Given the description of an element on the screen output the (x, y) to click on. 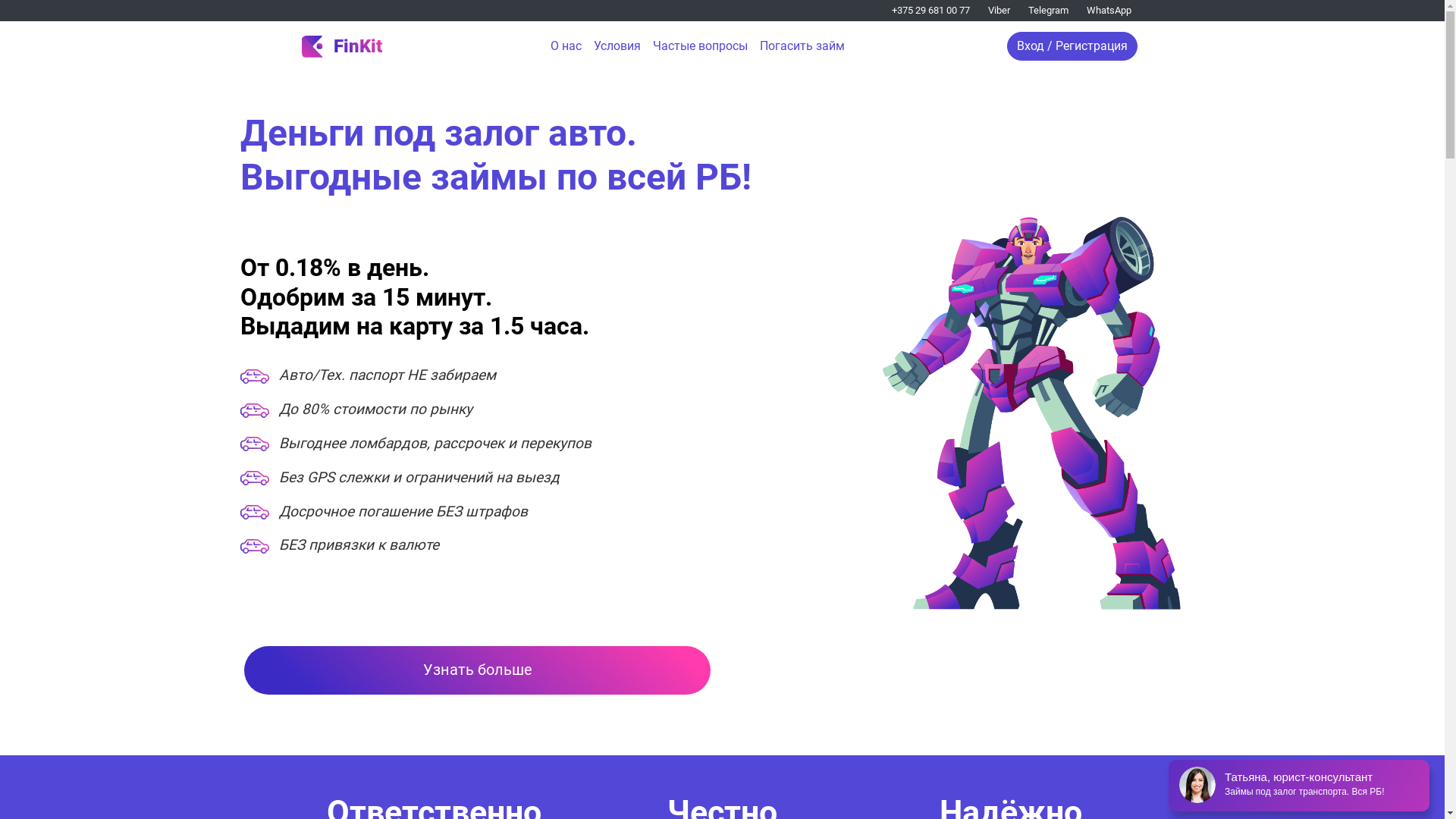
Viber Element type: text (989, 10)
WhatsApp Element type: text (1098, 10)
FinKit Element type: text (341, 45)
+375 29 681 00 77 Element type: text (930, 10)
Telegram Element type: text (1039, 10)
